Given the description of an element on the screen output the (x, y) to click on. 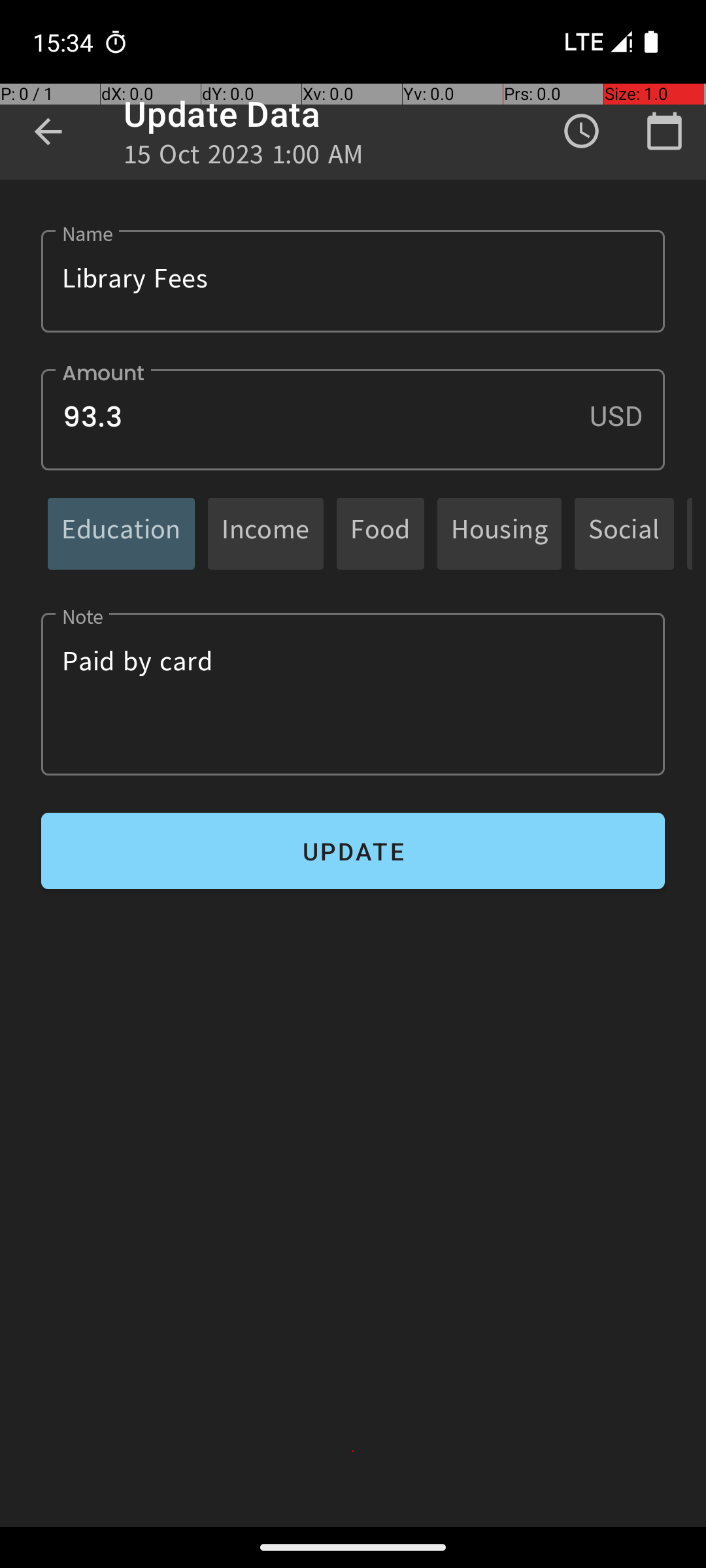
15 Oct 2023 1:00 AM Element type: android.widget.TextView (243, 157)
Library Fees Element type: android.widget.EditText (352, 280)
93.3 Element type: android.widget.EditText (352, 419)
Education Element type: android.widget.TextView (121, 533)
